Given the description of an element on the screen output the (x, y) to click on. 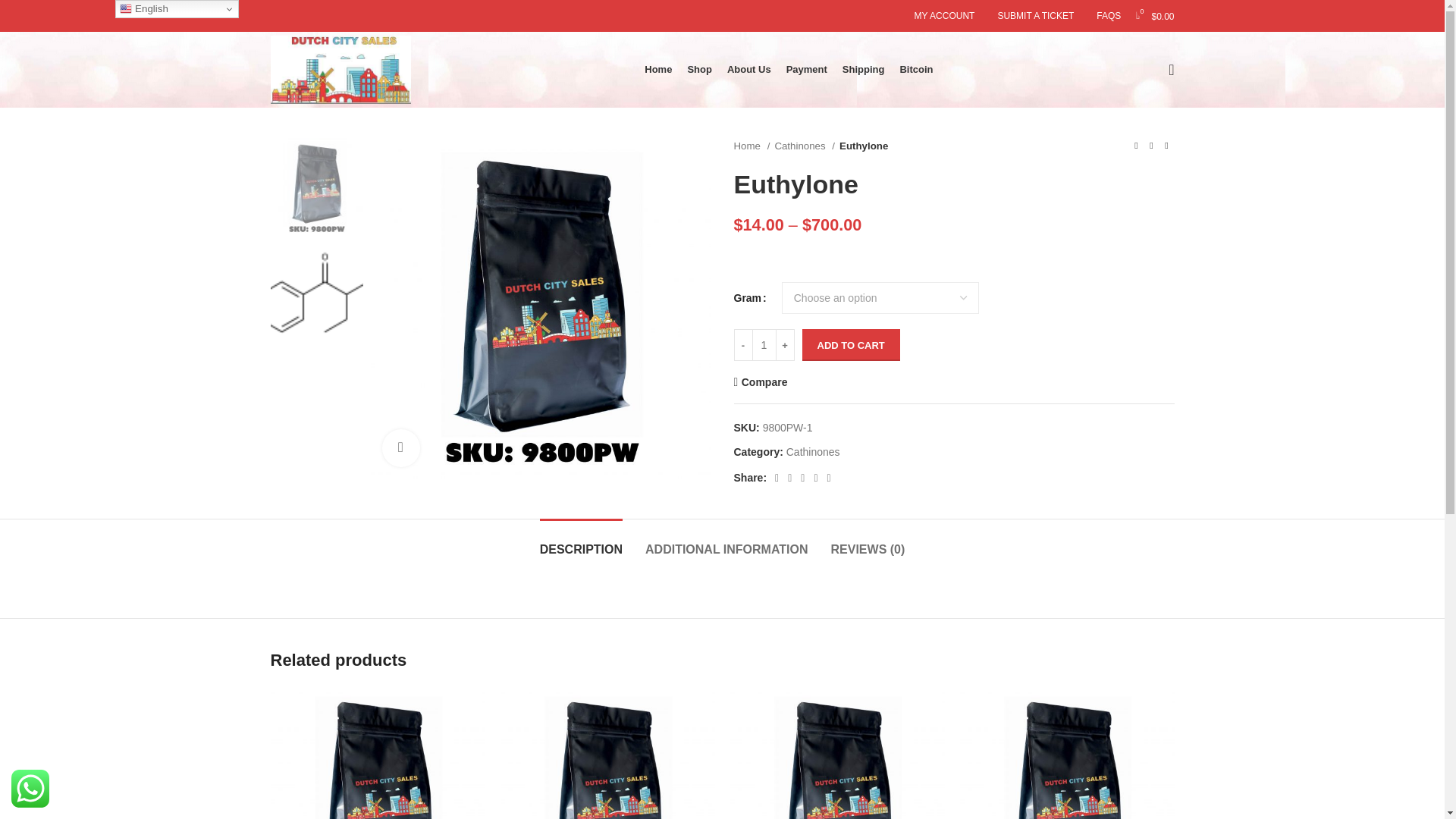
About Us (748, 69)
SUBMIT A TICKET (1035, 15)
Home (751, 145)
Compare (760, 381)
ADD TO CART (850, 345)
Shipping (864, 69)
Cathinones (813, 451)
MY ACCOUNT (944, 15)
Bitcoin (916, 69)
Payment (806, 69)
Euthylone (539, 308)
Home (658, 69)
Shopping cart (1154, 15)
Cathinones (804, 145)
